Given the description of an element on the screen output the (x, y) to click on. 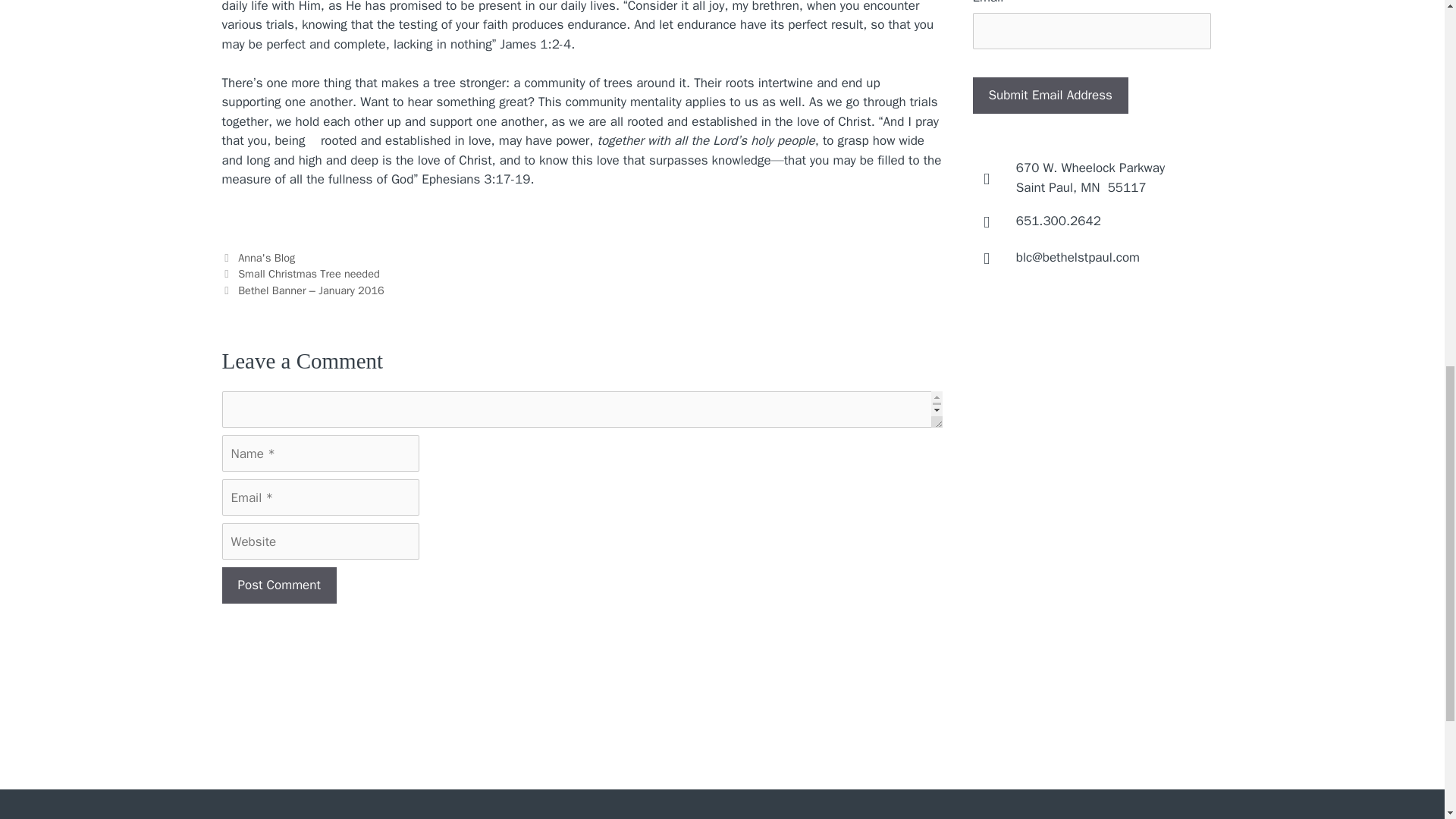
Anna's Blog (266, 257)
Small Christmas Tree needed (309, 273)
Submit Email Address (1049, 94)
Post Comment (278, 585)
Submit Email Address (1090, 177)
Post Comment (1049, 94)
651.300.2642 (278, 585)
